Given the description of an element on the screen output the (x, y) to click on. 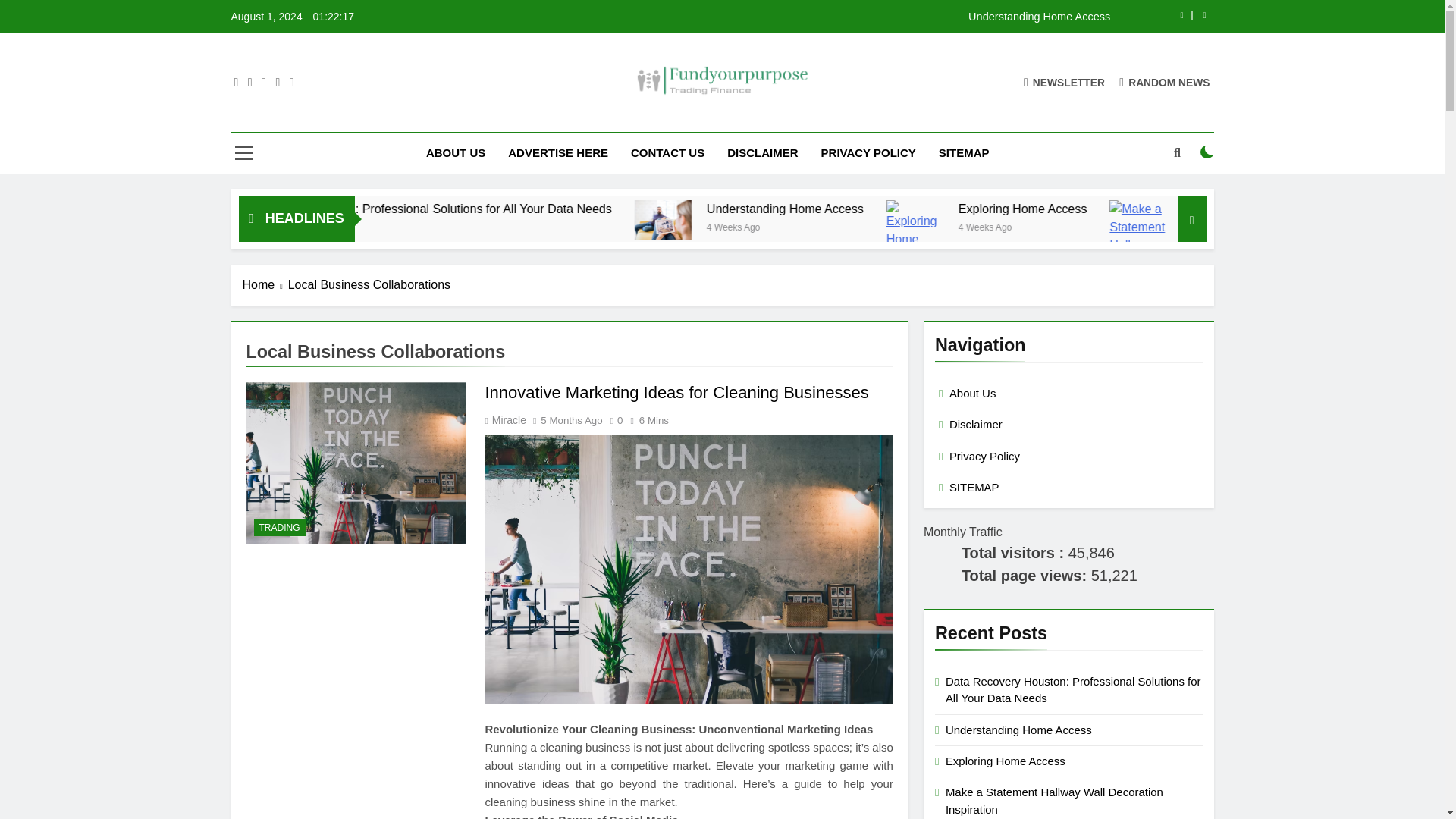
SITEMAP (964, 152)
Exploring Home Access (1169, 208)
CONTACT US (668, 152)
Understanding Home Access (817, 16)
7 Days Ago (407, 226)
Understanding Home Access (817, 16)
Understanding Home Access (909, 208)
Fundyourpurpose (612, 118)
NEWSLETTER (1064, 82)
ADVERTISE HERE (558, 152)
ABOUT US (455, 152)
4 Weeks Ago (1129, 226)
Understanding Home Access (789, 219)
4 Weeks Ago (884, 226)
